Given the description of an element on the screen output the (x, y) to click on. 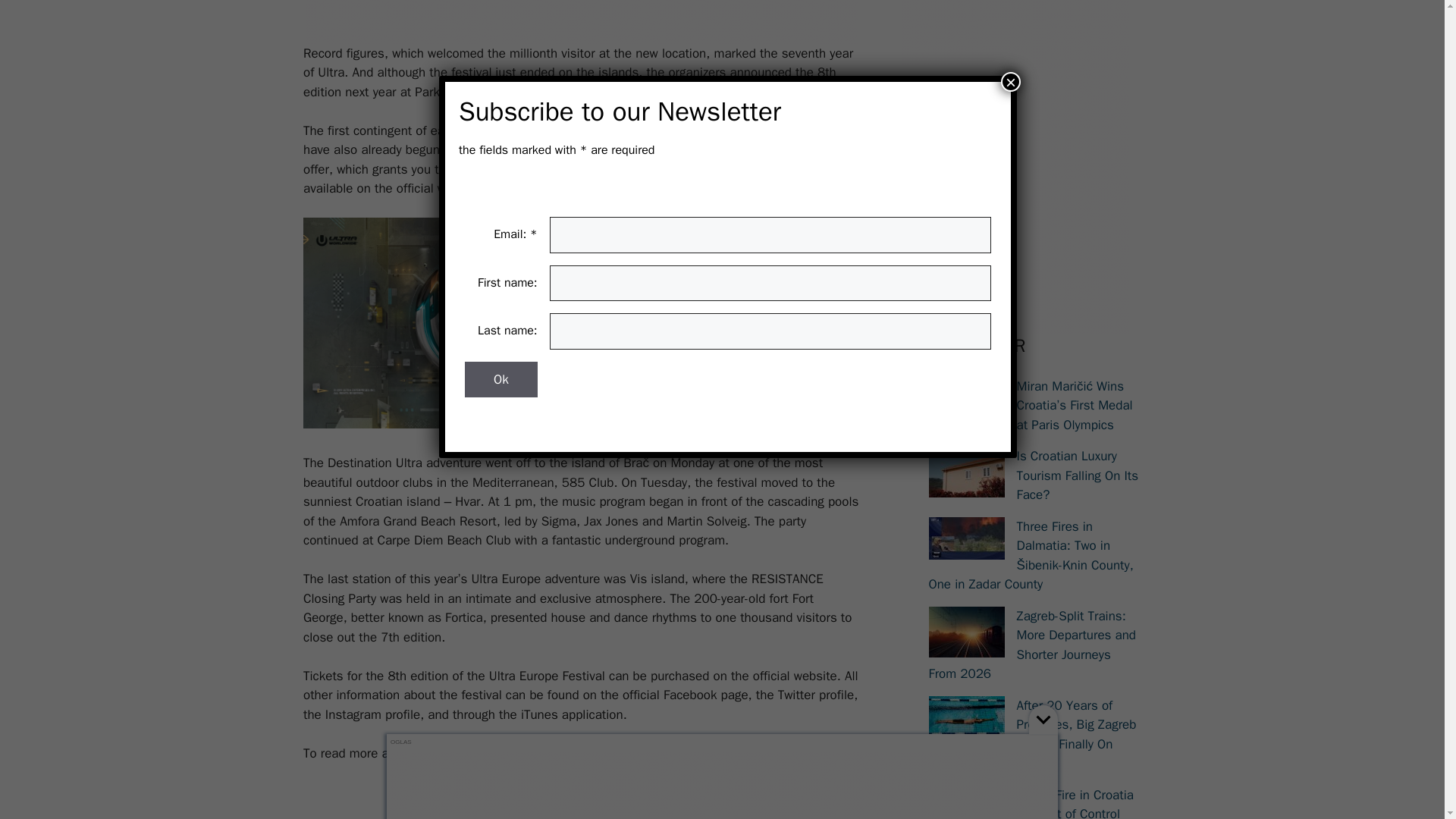
3rd party ad content (581, 22)
